Given the description of an element on the screen output the (x, y) to click on. 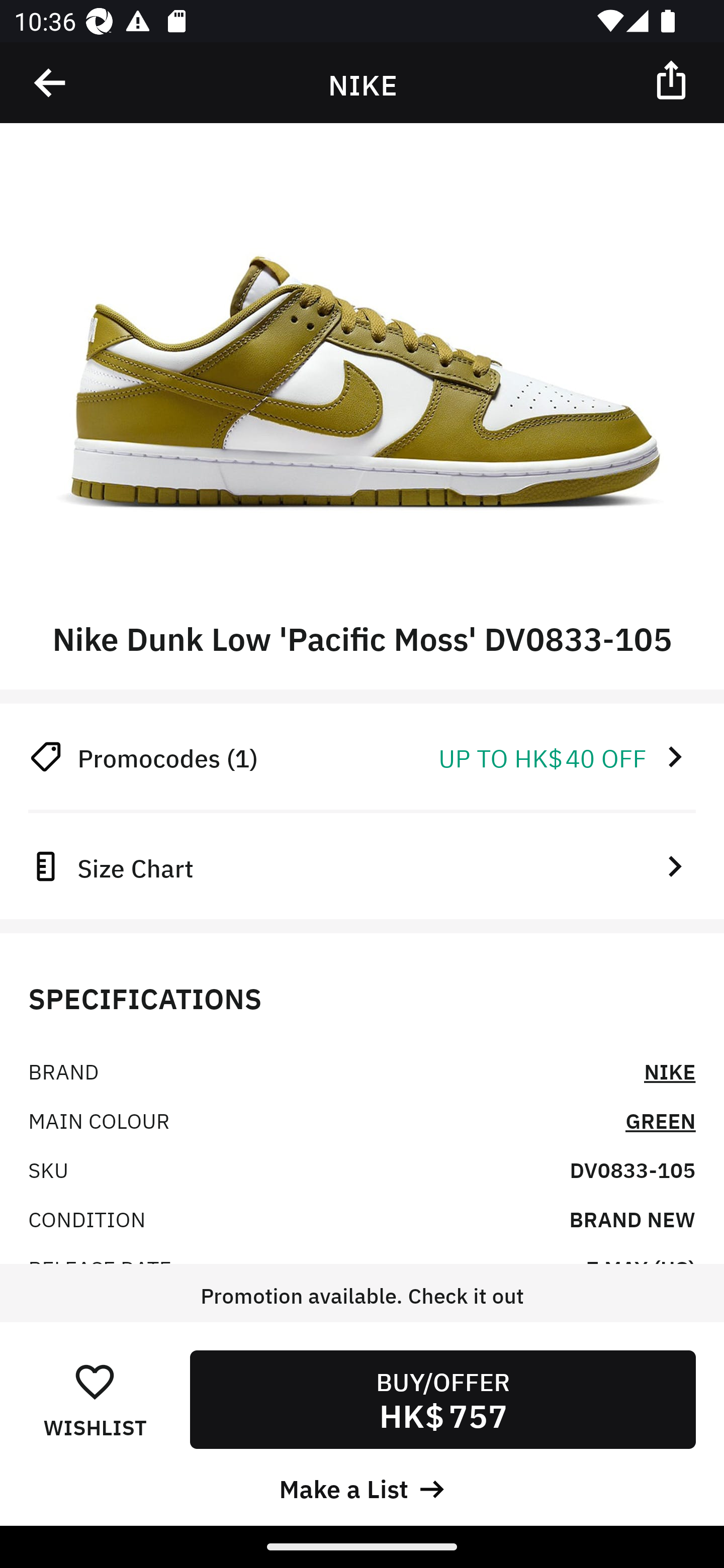
 (50, 83)
 (672, 79)
Promocodes (1) UP TO HK$ 40 OFF  (361, 756)
Size Chart  (361, 866)
NIKE (669, 1070)
GREEN (660, 1119)
DV0833-105 (632, 1168)
BRAND NEW (632, 1218)
BUY/OFFER HK$ 757 (442, 1399)
󰋕 (94, 1380)
Make a List (361, 1486)
